Given the description of an element on the screen output the (x, y) to click on. 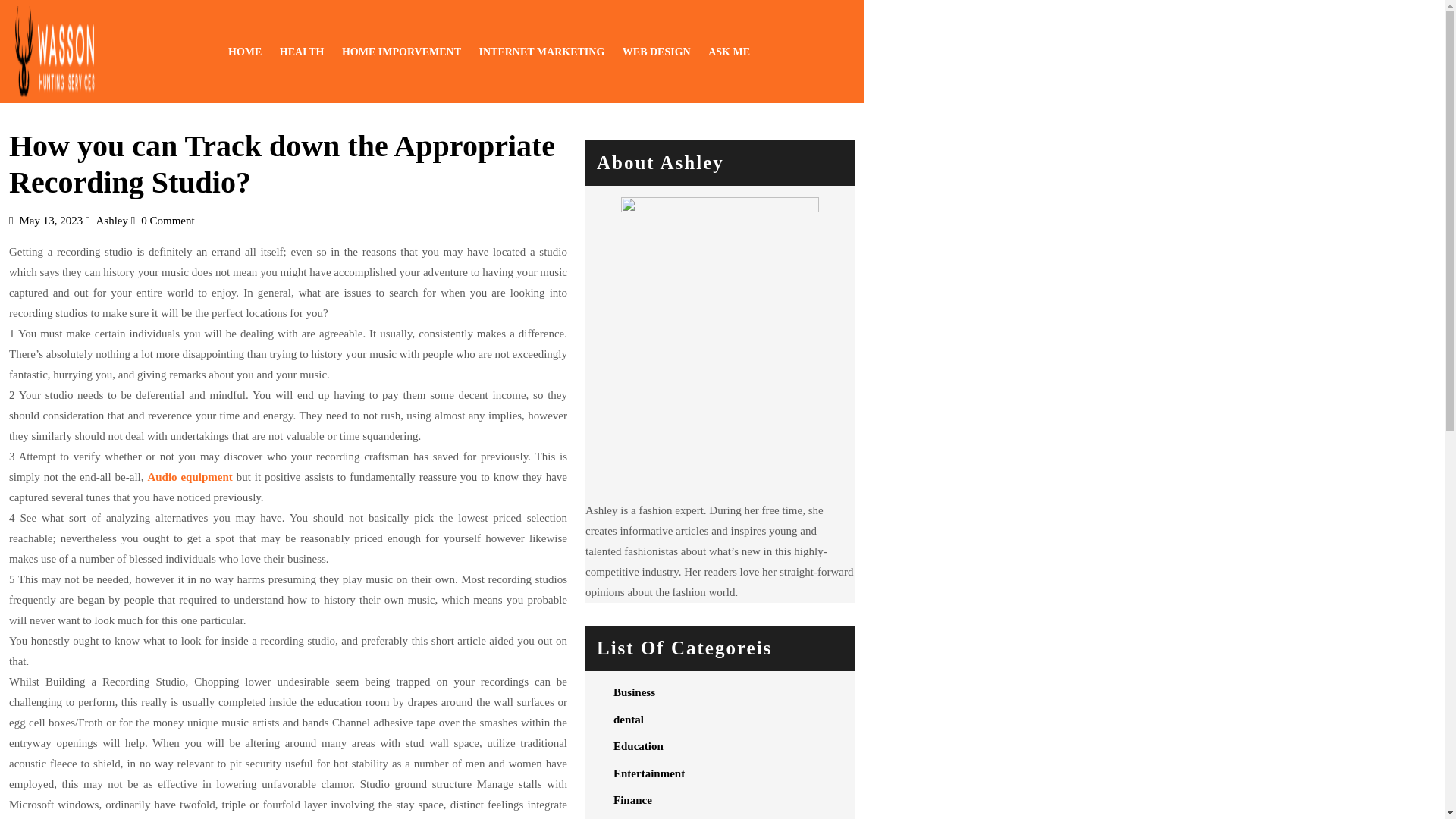
WEB DESIGN (656, 51)
Audio equipment (189, 476)
Entertainment (648, 773)
Business (112, 220)
HEALTH (633, 692)
INTERNET MARKETING (301, 51)
ASK ME (540, 51)
HOME (728, 51)
HOME IMPORVEMENT (245, 51)
